Given the description of an element on the screen output the (x, y) to click on. 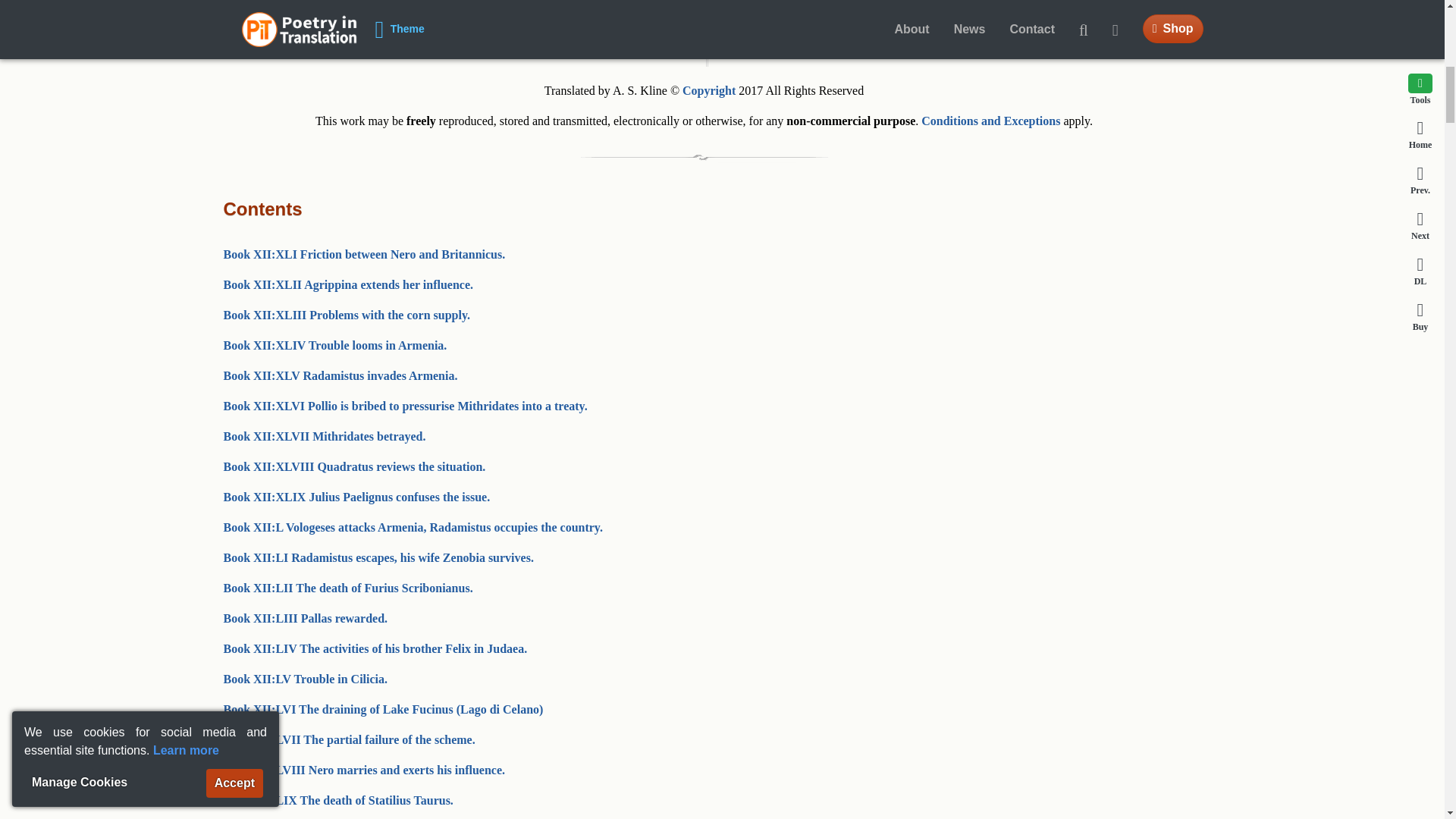
Book XII:XLIV Trouble looms in Armenia. (334, 345)
Conditions and Exceptions (990, 120)
  Download (704, 17)
Book XII:XLIX Julius Paelignus confuses the issue. (355, 496)
Book XII:XLVII Mithridates betrayed. (323, 436)
Book XII:XLII Agrippina extends her influence. (347, 284)
Book XII:XLI Friction between Nero and Britannicus. (363, 254)
Book XII:XLIII Problems with the corn supply. (346, 314)
Copyright (708, 90)
Book XII:XLVIII Quadratus reviews the situation. (353, 466)
  Next (803, 53)
  Previous (605, 53)
Book XII:XLV Radamistus invades Armenia. (339, 375)
  Home (508, 17)
